Given the description of an element on the screen output the (x, y) to click on. 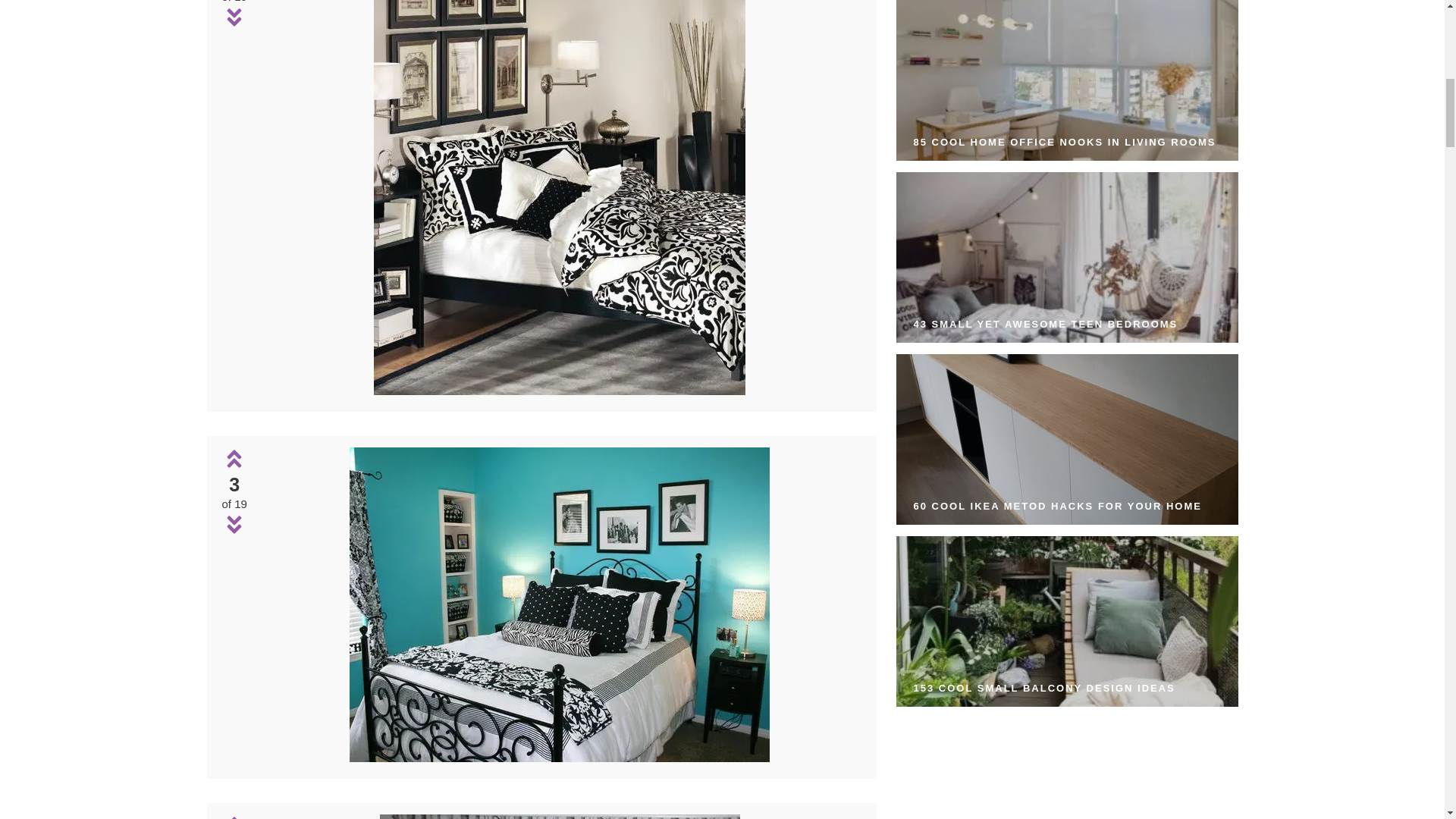
Traditional Black And White Bedroom (559, 604)
Traditional Black And White Bedroom (559, 390)
Traditional Black And White Bedroom (559, 757)
Traditional Black And White Bedroom (559, 816)
